Given the description of an element on the screen output the (x, y) to click on. 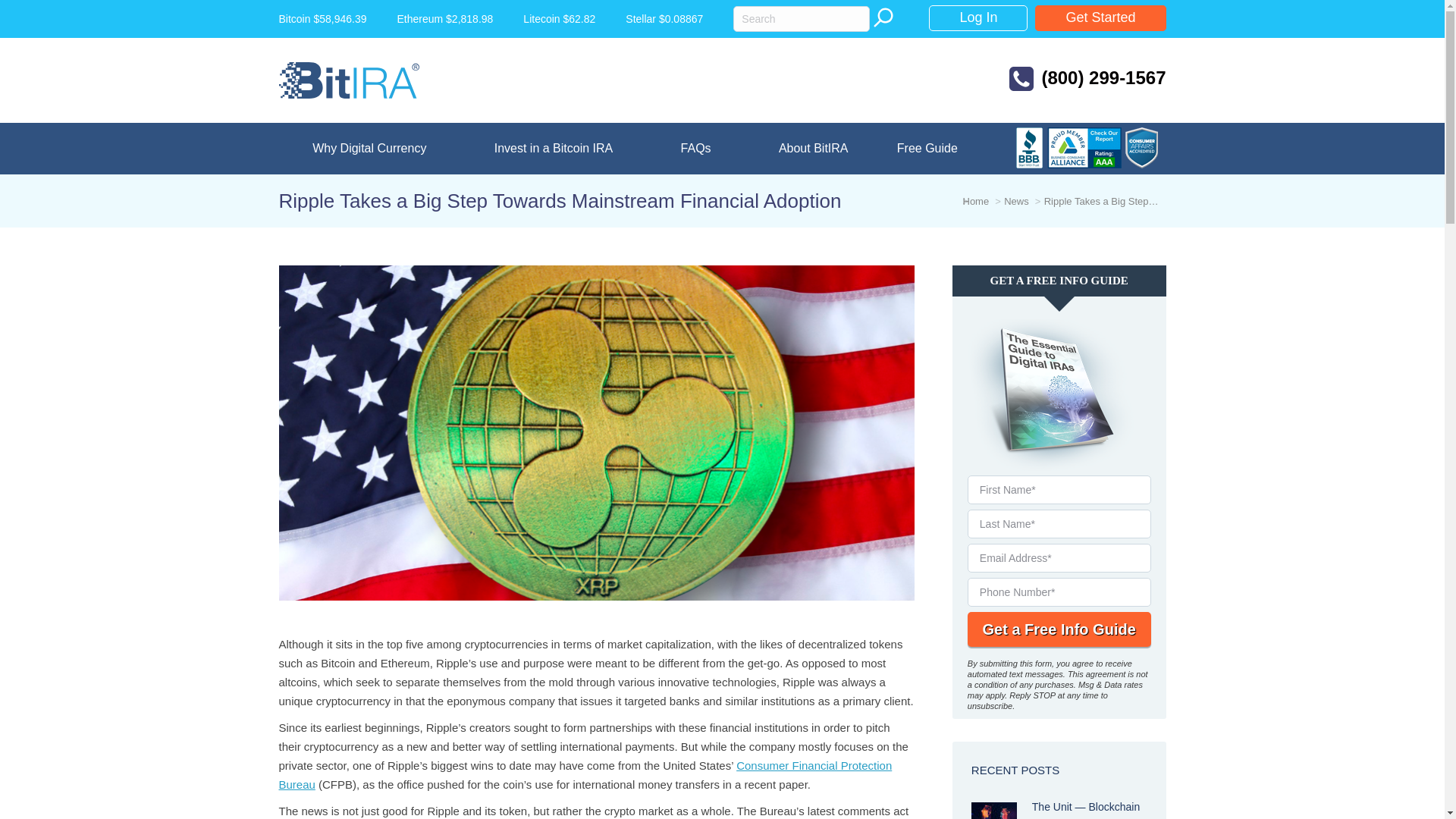
FAQs (695, 148)
Invest in a Bitcoin IRA (553, 148)
Log In (977, 17)
Home (976, 201)
Why Digital Currency (370, 148)
About BitIRA (813, 148)
Get Started (1100, 17)
Get a Free Info Guide (1059, 629)
Free Guide (927, 148)
